Given the description of an element on the screen output the (x, y) to click on. 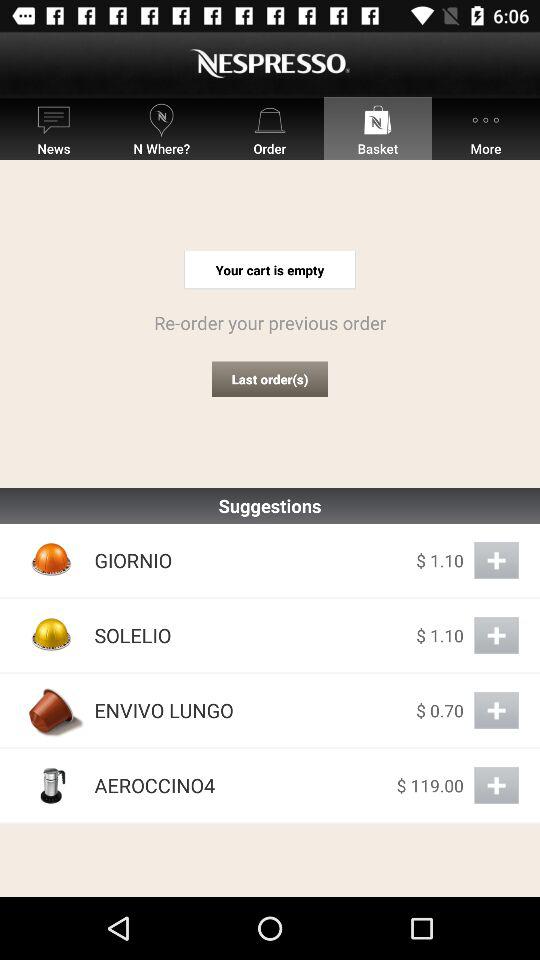
add envivo lungo (496, 710)
